Given the description of an element on the screen output the (x, y) to click on. 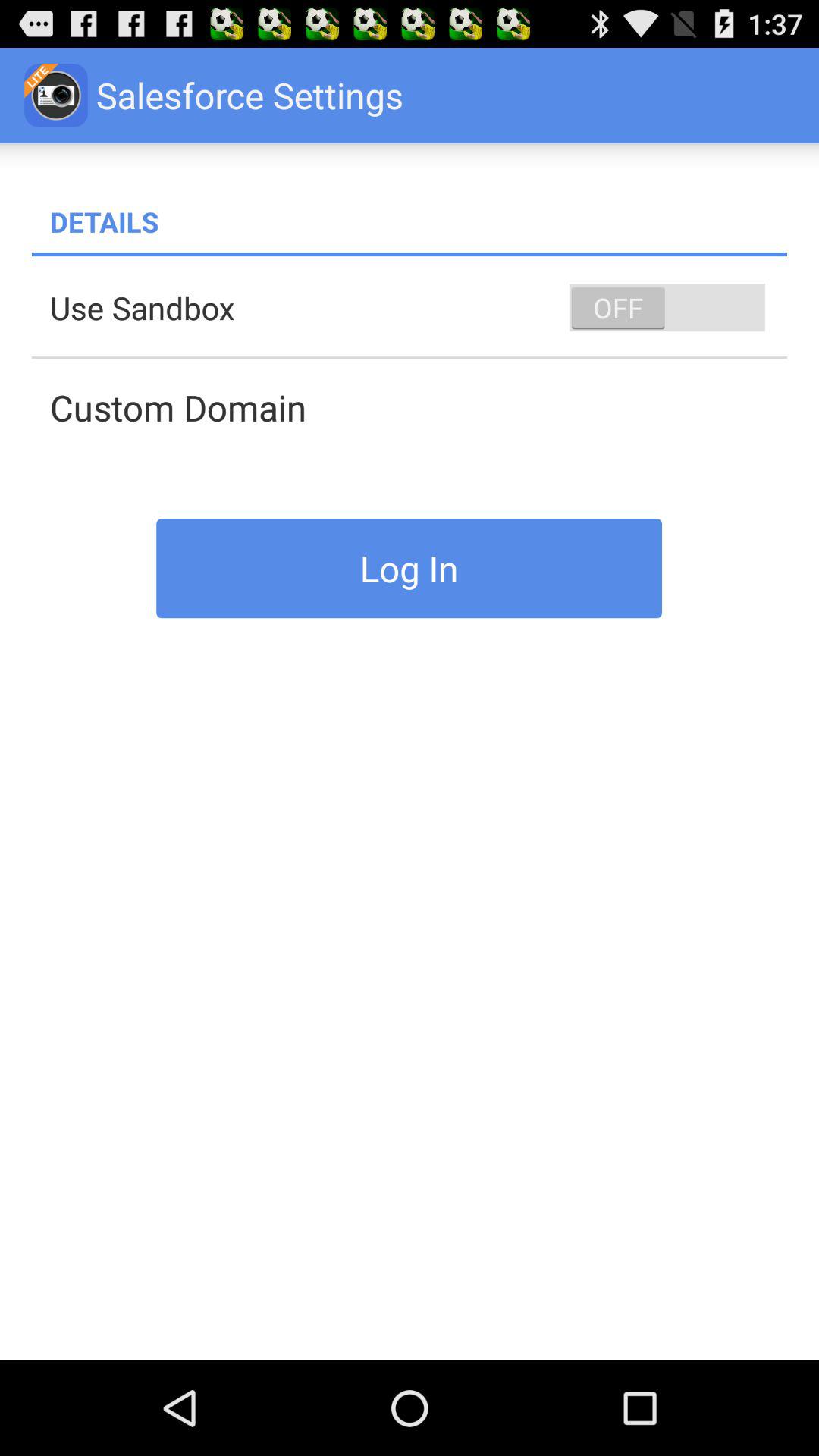
open custom domain (418, 407)
